Given the description of an element on the screen output the (x, y) to click on. 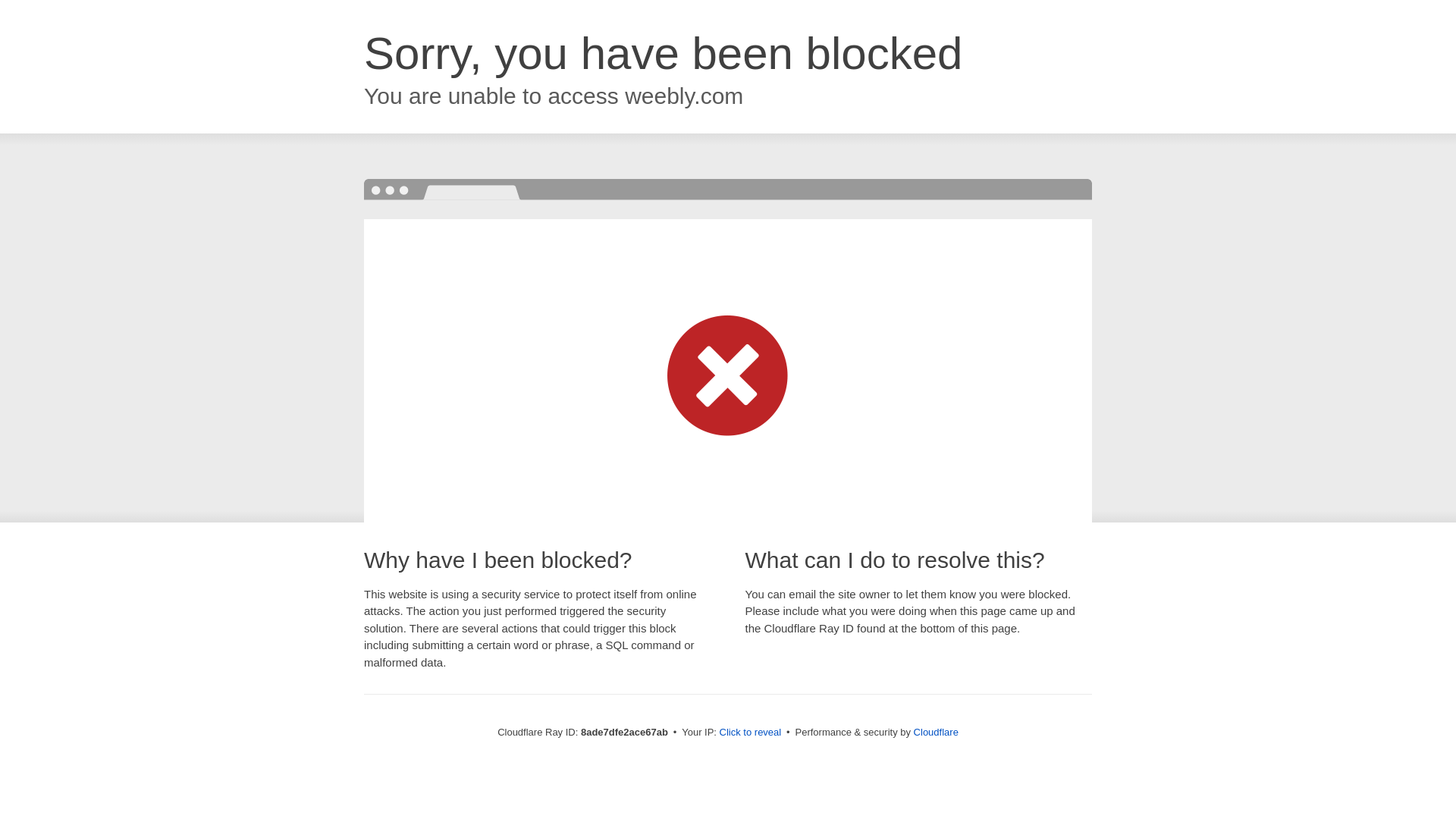
Click to reveal (750, 732)
Cloudflare (936, 731)
